Given the description of an element on the screen output the (x, y) to click on. 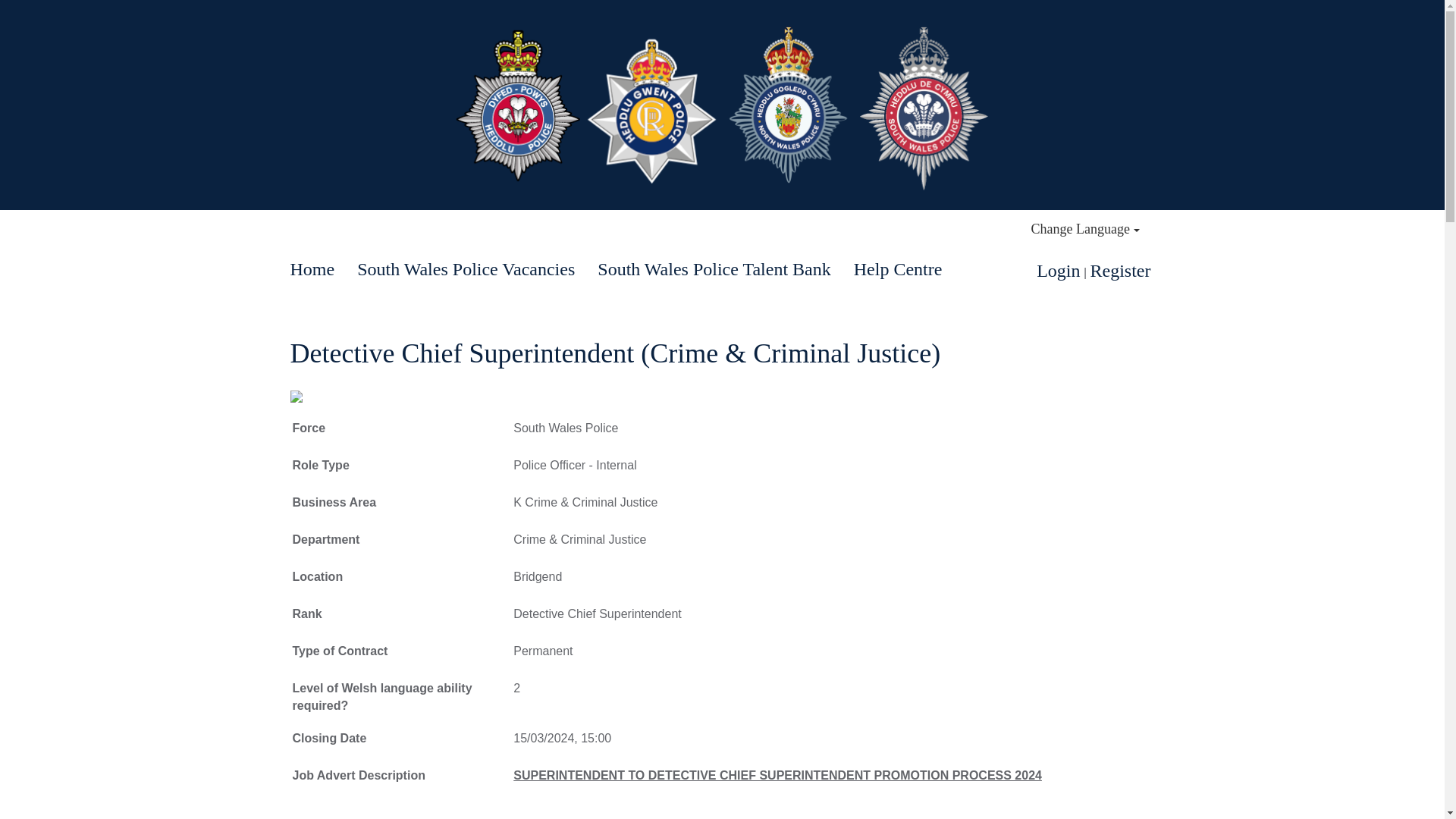
Help Centre (898, 269)
Login (1058, 270)
Change Language (1085, 229)
Register (1120, 270)
South Wales Police Talent Bank (713, 269)
Home (312, 269)
South Wales Police Vacancies (466, 269)
